Given the description of an element on the screen output the (x, y) to click on. 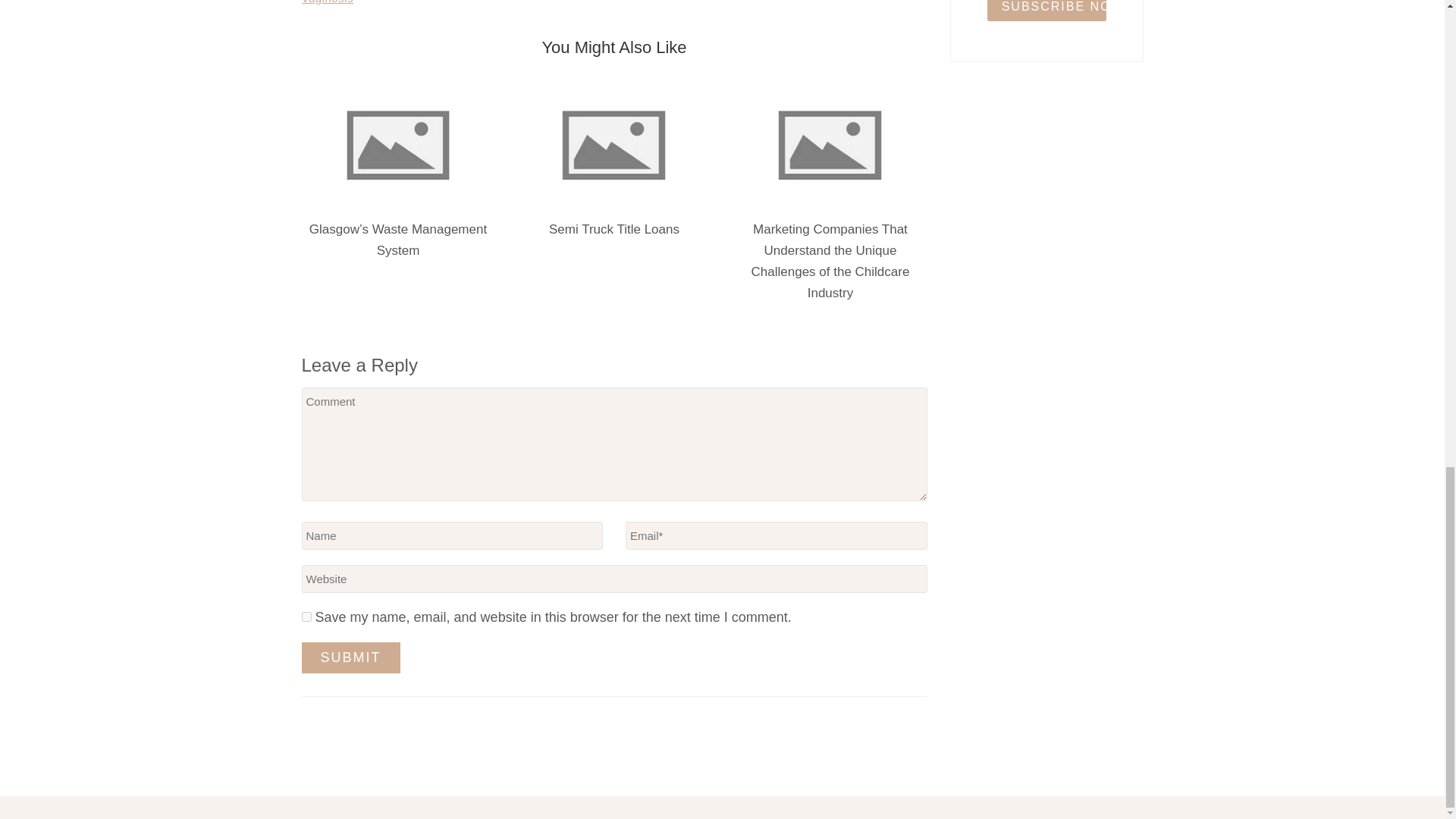
SUBSCRIBE NOW (1045, 11)
Submit (350, 657)
SUBSCRIBE NOW (1045, 11)
Submit (350, 657)
yes (306, 616)
Semi Truck Title Loans (613, 228)
